Given the description of an element on the screen output the (x, y) to click on. 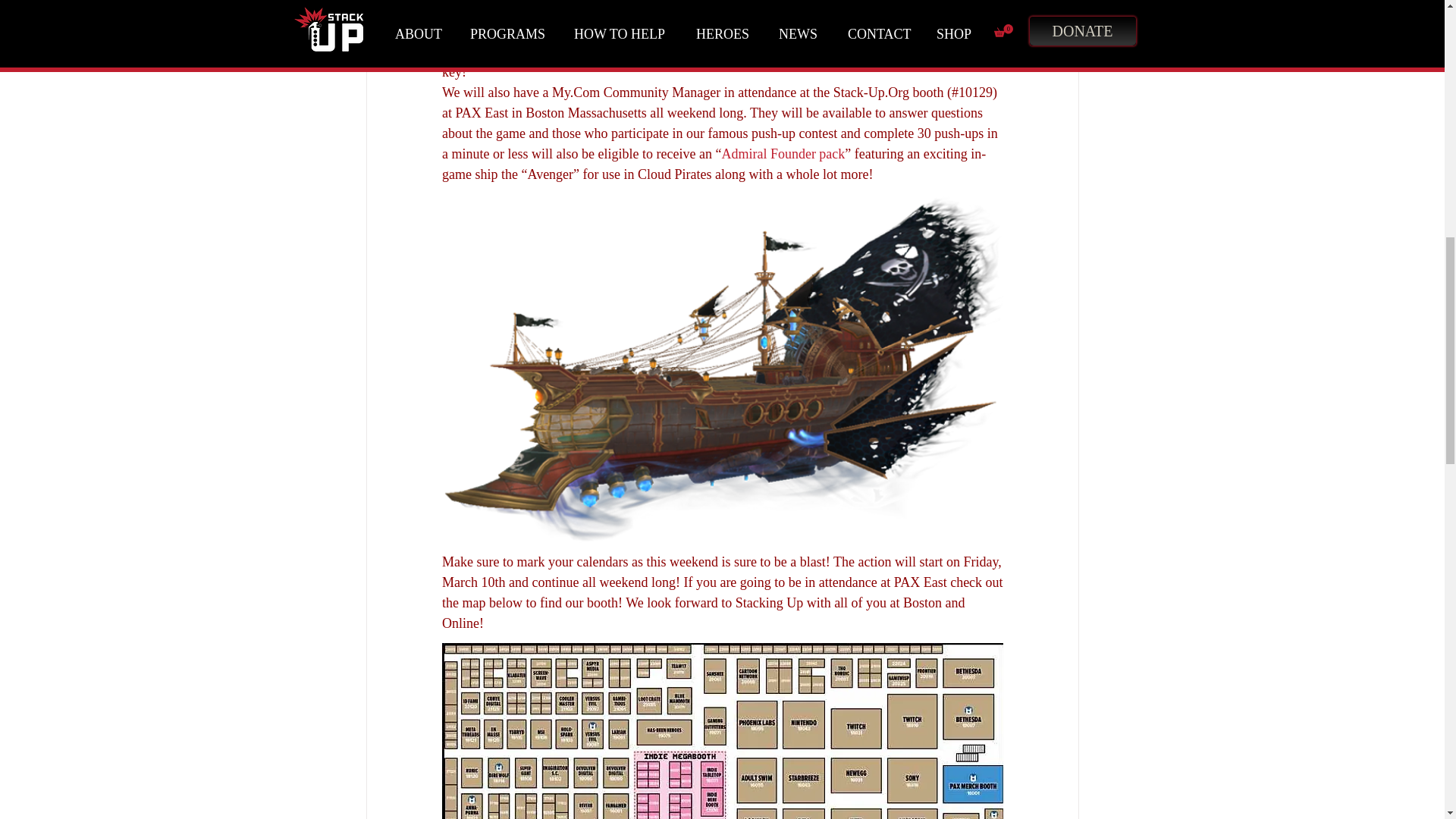
Admiral Founder packs (702, 30)
